Given the description of an element on the screen output the (x, y) to click on. 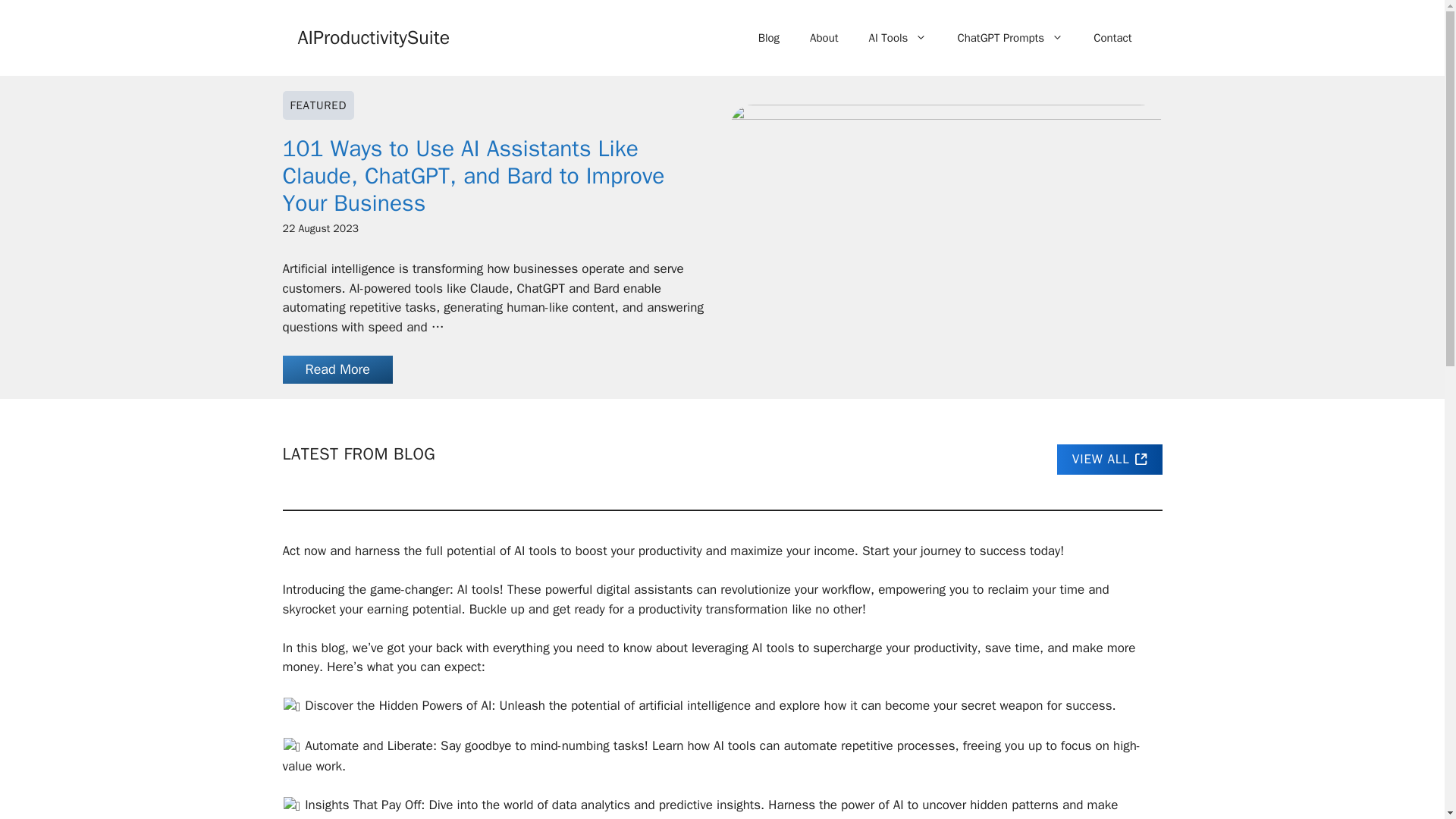
AI Tools (897, 37)
Read More (337, 369)
Contact (1112, 37)
Blog (768, 37)
About (823, 37)
VIEW ALL (1109, 459)
ChatGPT Prompts (1010, 37)
AIProductivitySuite (373, 37)
